Given the description of an element on the screen output the (x, y) to click on. 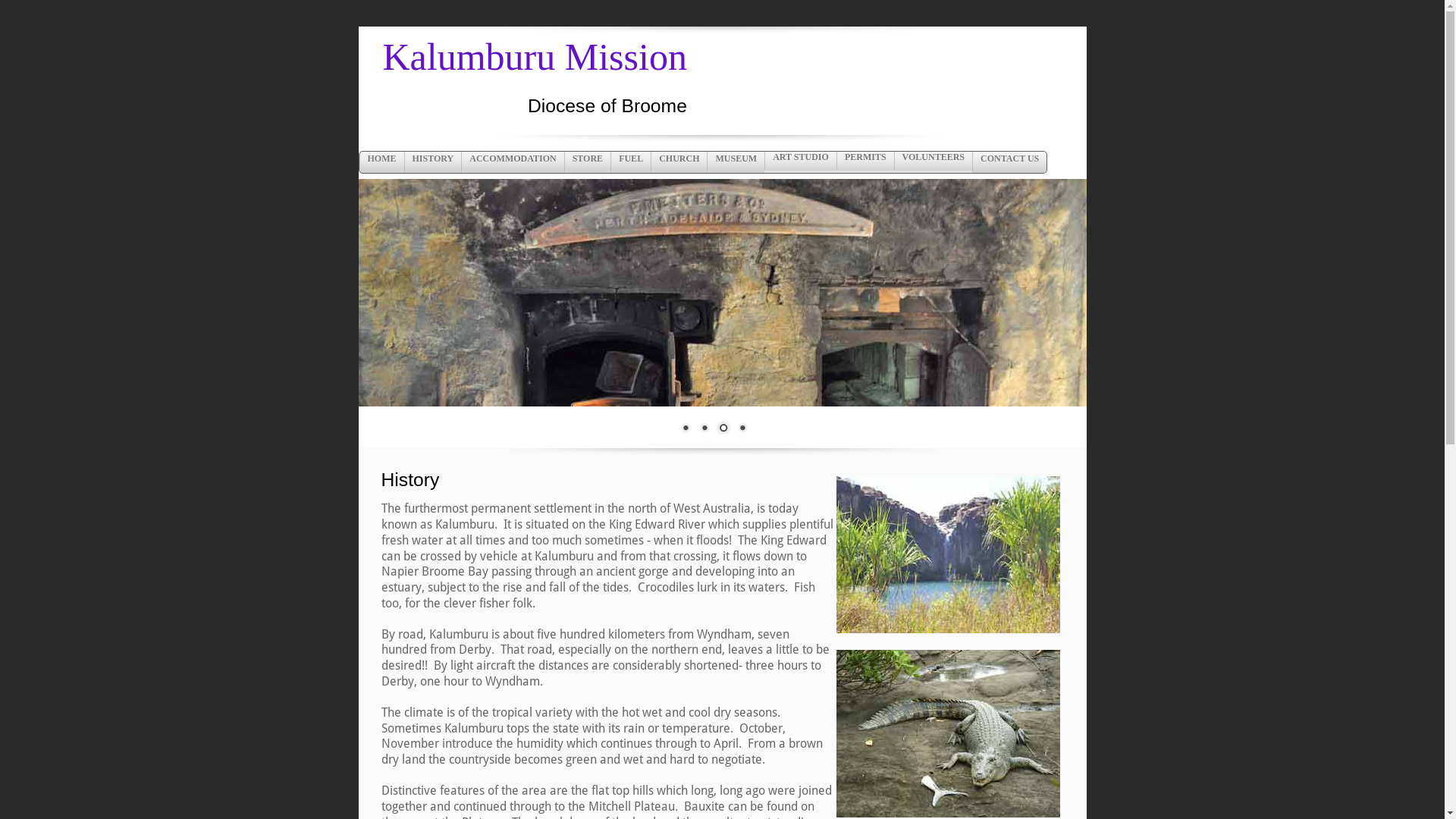
FUEL Element type: text (630, 161)
1 Element type: text (684, 428)
CHURCH Element type: text (678, 161)
HISTORY Element type: text (432, 161)
PERMITS Element type: text (865, 160)
VOLUNTEERS Element type: text (933, 160)
CONTACT US Element type: text (1009, 161)
MUSEUM Element type: text (735, 161)
STORE Element type: text (587, 161)
2 Element type: text (704, 428)
3 Element type: text (722, 428)
4 Element type: text (742, 428)
HOME Element type: text (381, 161)
ACCOMMODATION Element type: text (512, 161)
ART STUDIO Element type: text (800, 160)
